Given the description of an element on the screen output the (x, y) to click on. 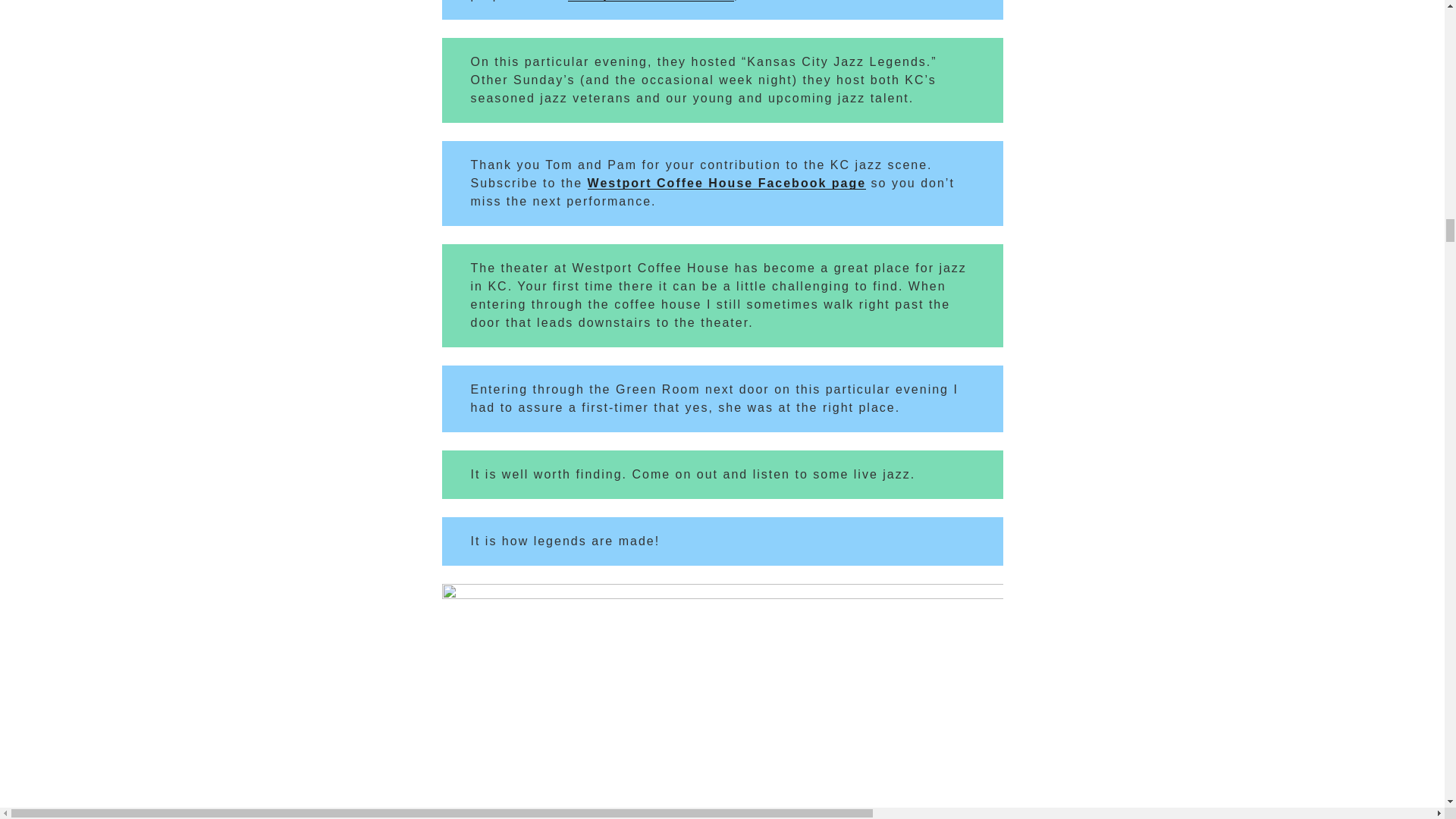
Westport Coffee House Facebook page (727, 182)
